Given the description of an element on the screen output the (x, y) to click on. 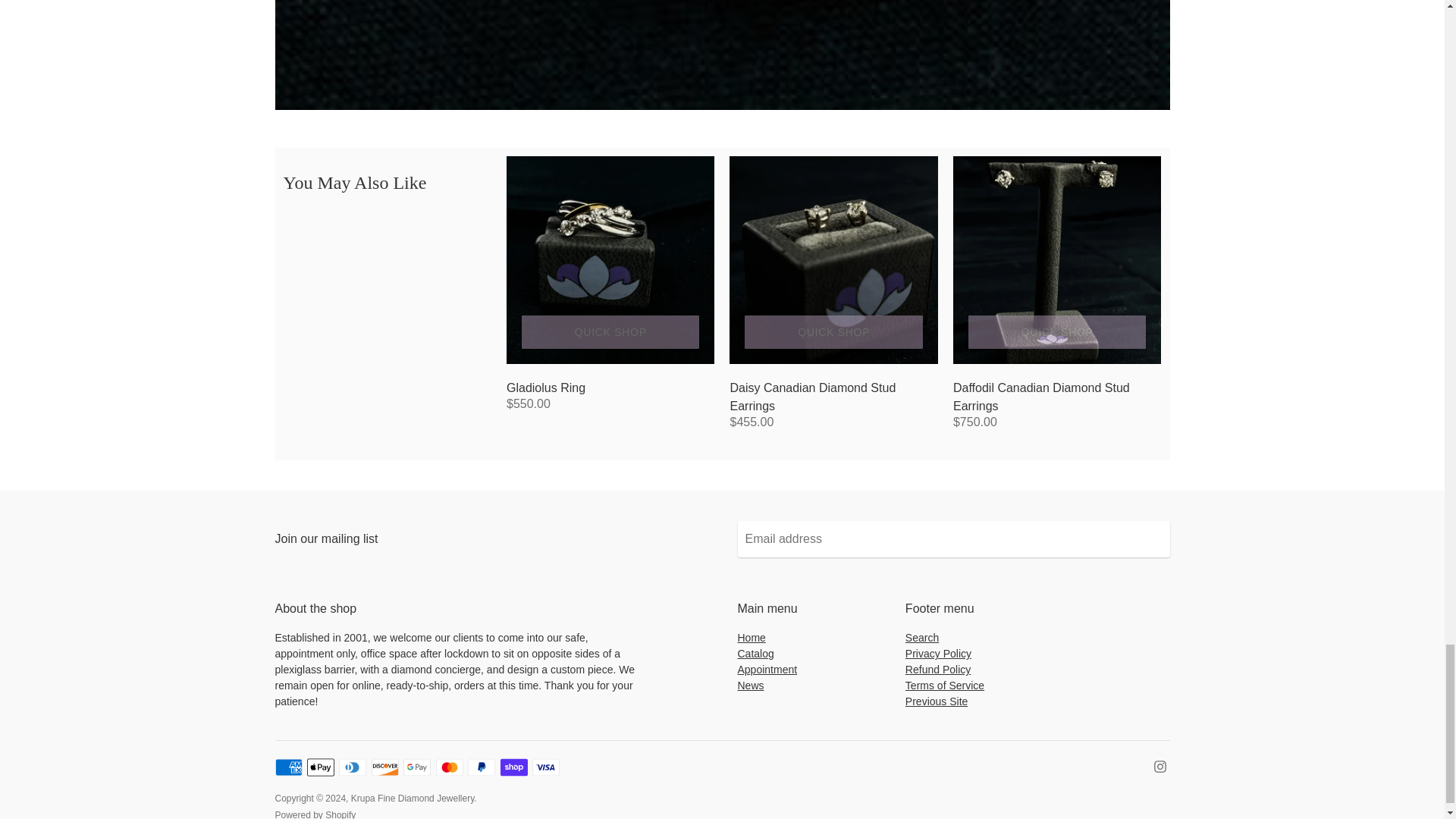
Mastercard (449, 767)
Google Pay (416, 767)
Diners Club (352, 767)
Krupa Fine Diamond Jewellery on Instagram (1160, 765)
Apple Pay (320, 767)
PayPal (481, 767)
Discover (384, 767)
Shop Pay (513, 767)
American Express (288, 767)
Visa (545, 767)
